Given the description of an element on the screen output the (x, y) to click on. 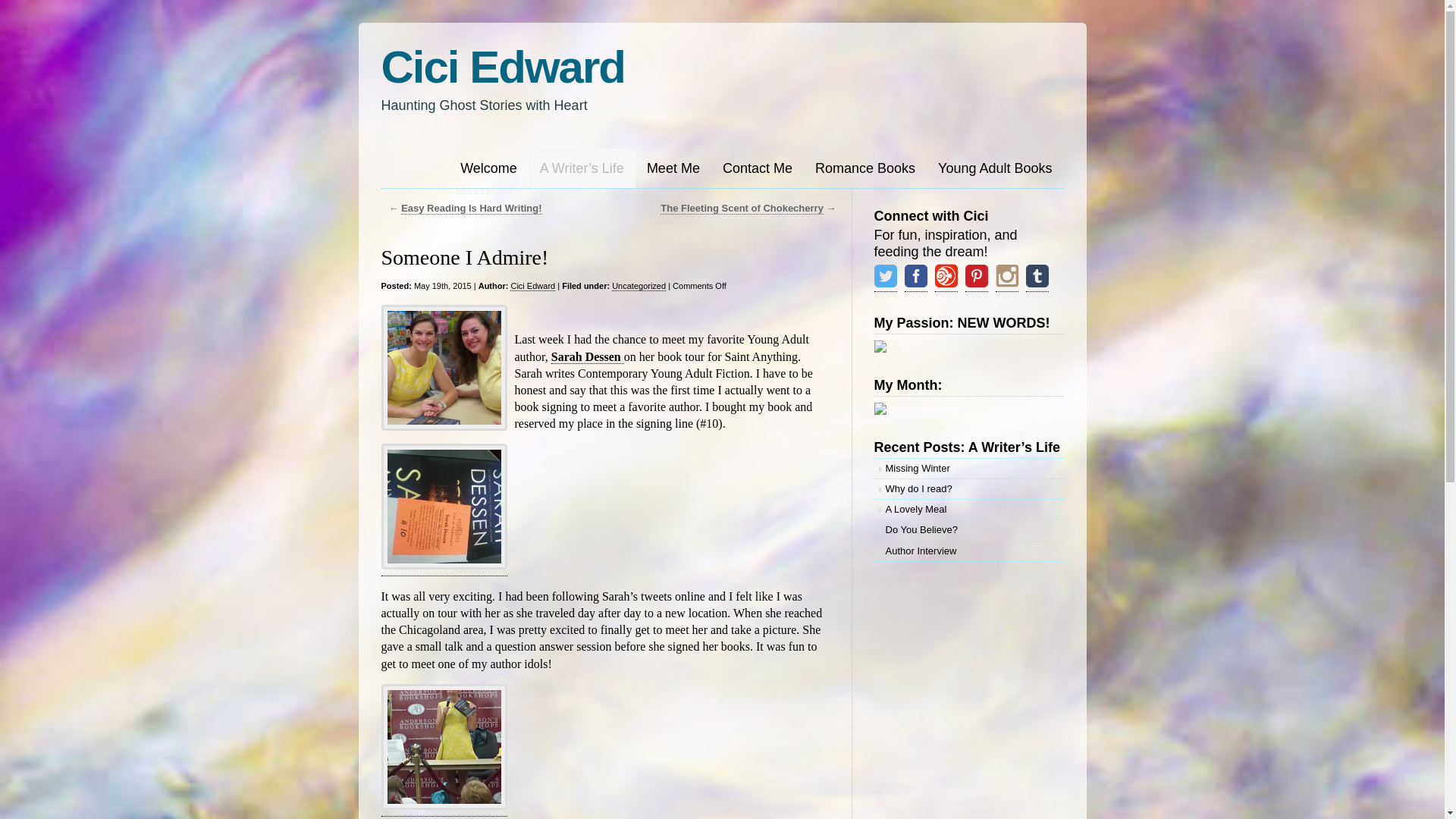
Cici Edward (502, 66)
A Lovely Meal (967, 509)
Do You Believe? (967, 529)
Missing Winter (967, 468)
The Fleeting Scent of Chokecherry (742, 208)
Contact Me (757, 168)
Meet Me (672, 168)
Romance Books (864, 168)
Easy Reading Is Hard Writing! (471, 208)
Why do I read? (967, 488)
